Given the description of an element on the screen output the (x, y) to click on. 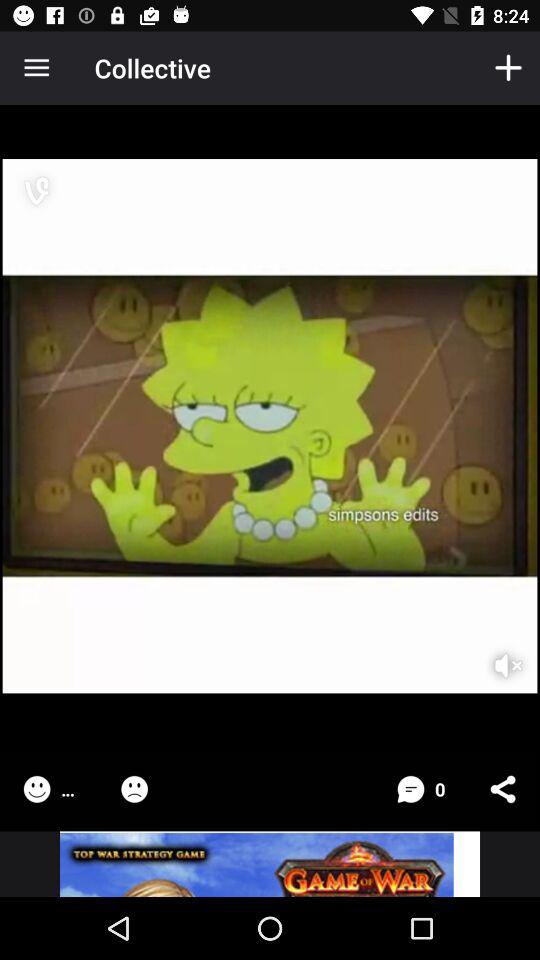
external advertisement (270, 864)
